Given the description of an element on the screen output the (x, y) to click on. 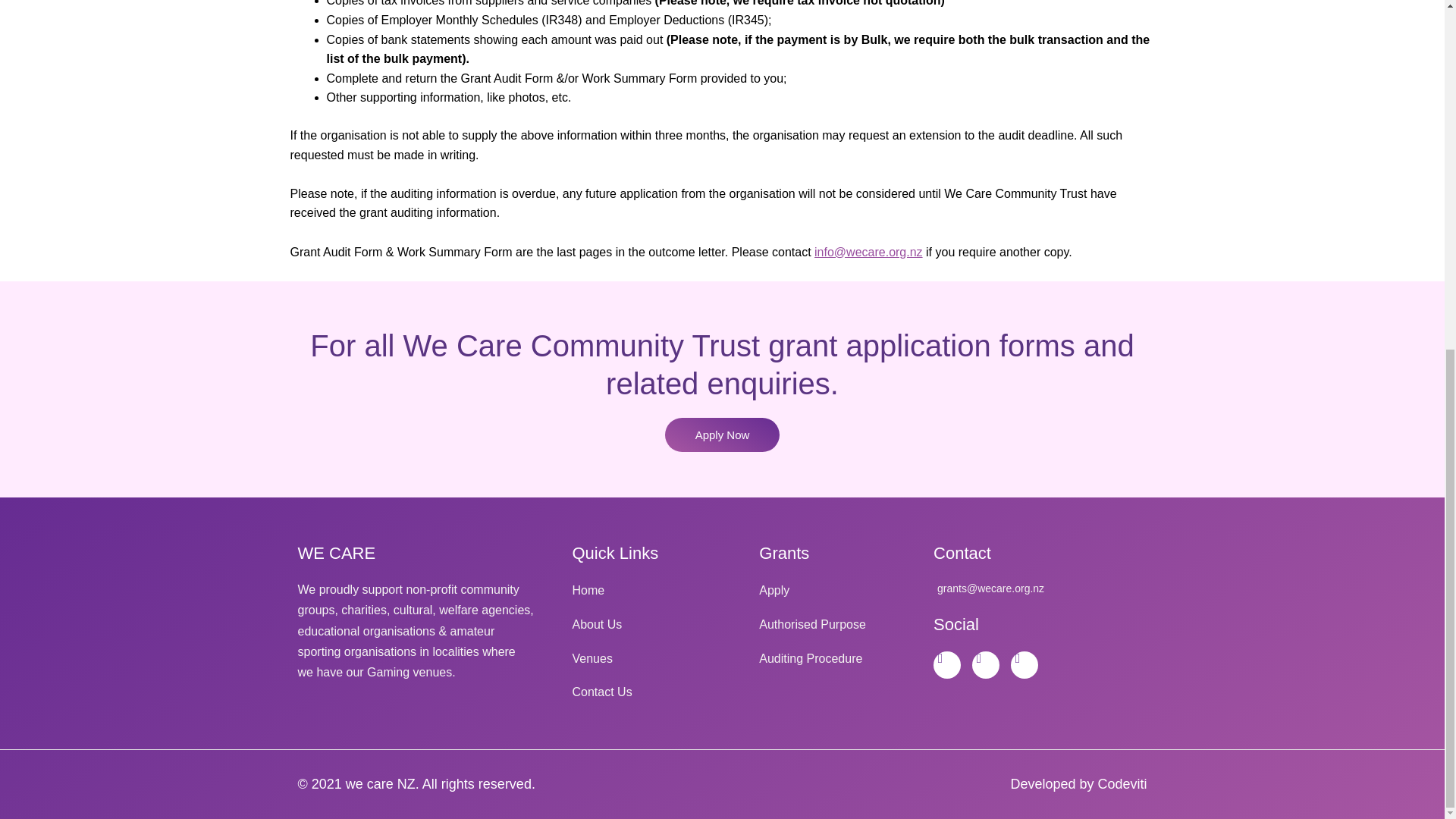
About Us (650, 624)
Contact Us (650, 691)
Home (650, 590)
Venues (650, 658)
Apply Now (722, 434)
